Given the description of an element on the screen output the (x, y) to click on. 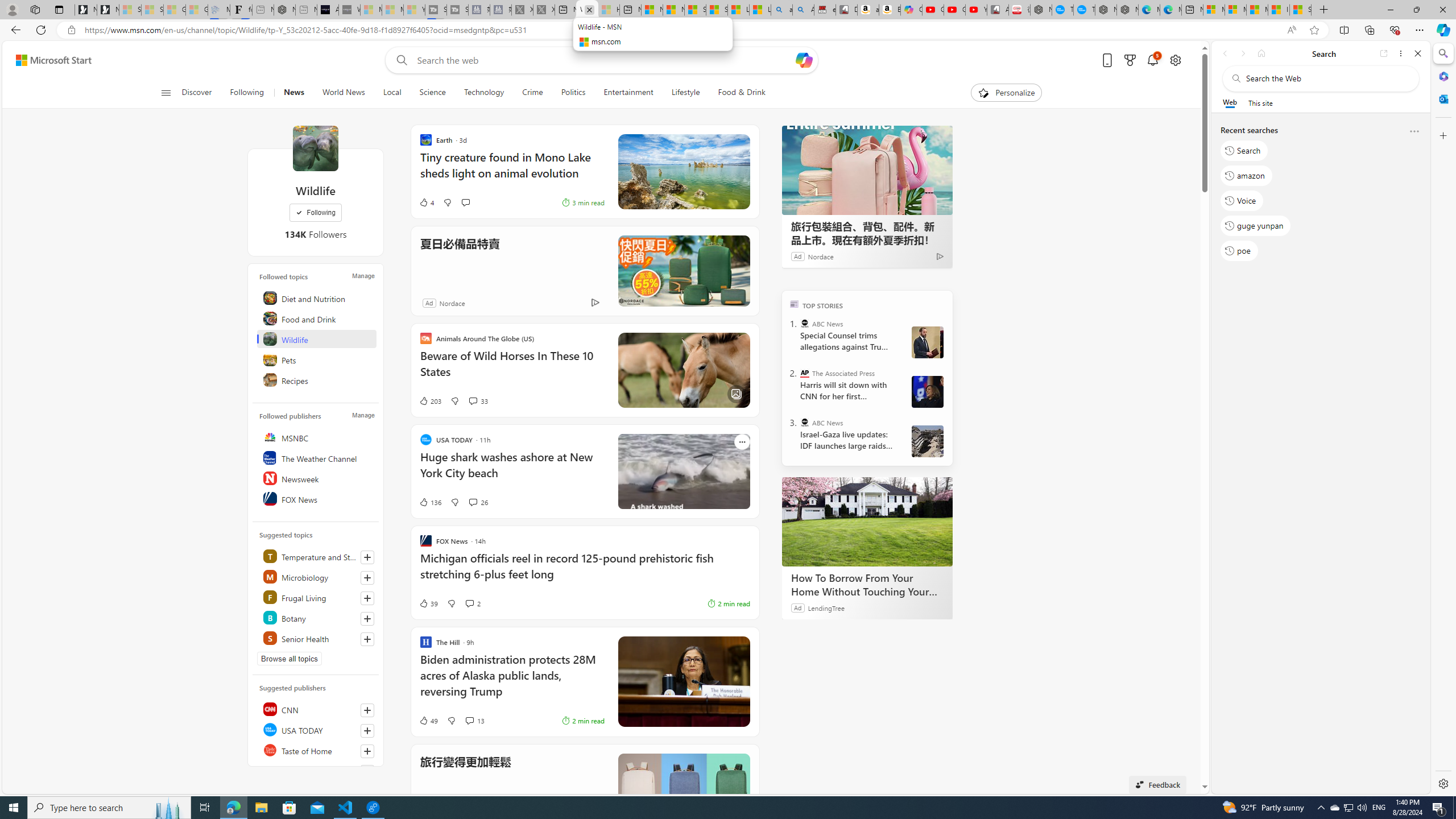
All Cubot phones (997, 9)
Recipes (317, 380)
guge yunpan (1255, 225)
203 Like (429, 400)
Entertainment (627, 92)
Skip to content (49, 59)
Politics (573, 92)
